Given the description of an element on the screen output the (x, y) to click on. 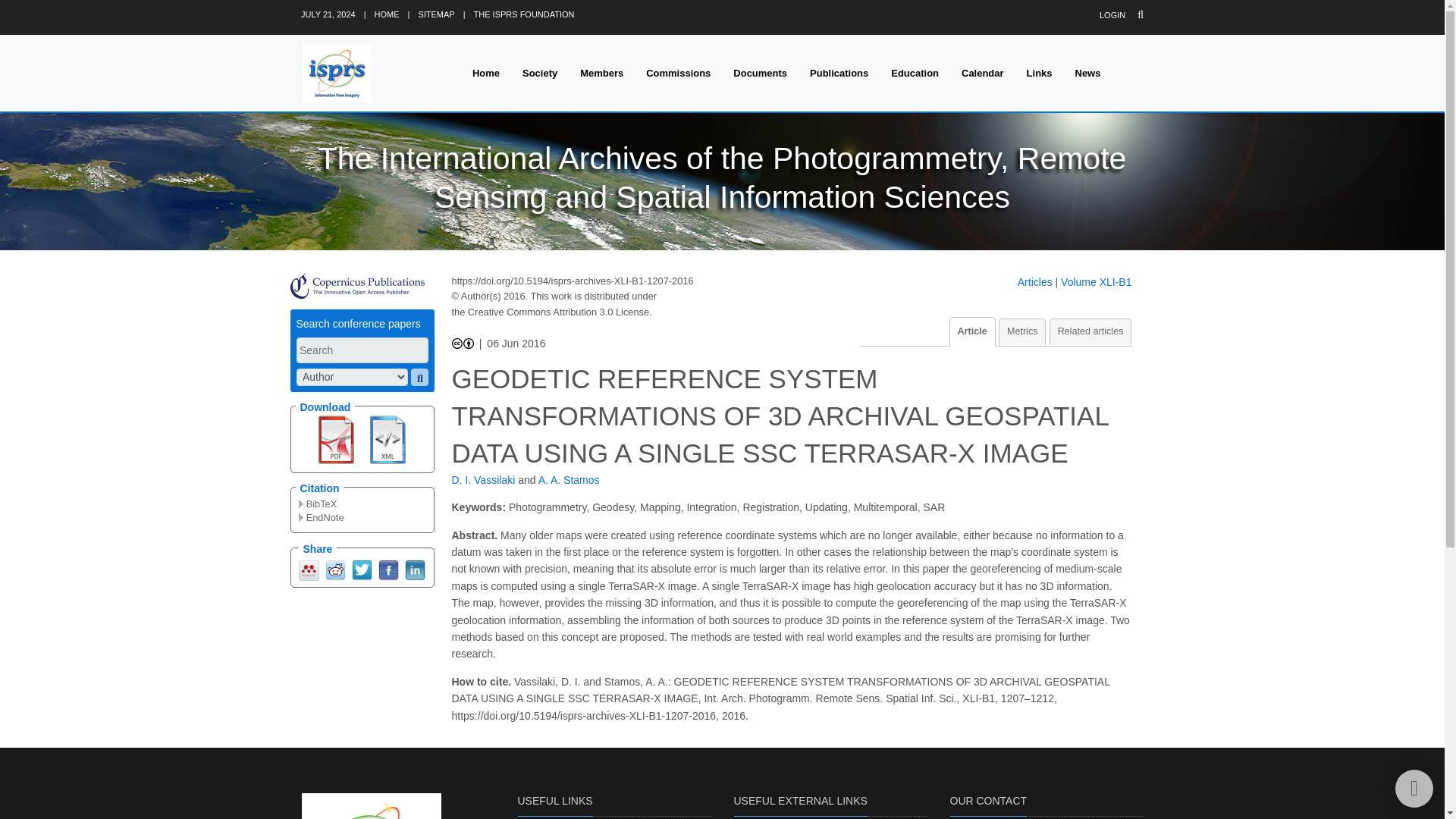
LOGIN (1112, 14)
THE ISPRS FOUNDATION (524, 13)
SITEMAP (435, 13)
Home (485, 73)
Society (539, 73)
HOME (386, 13)
